Given the description of an element on the screen output the (x, y) to click on. 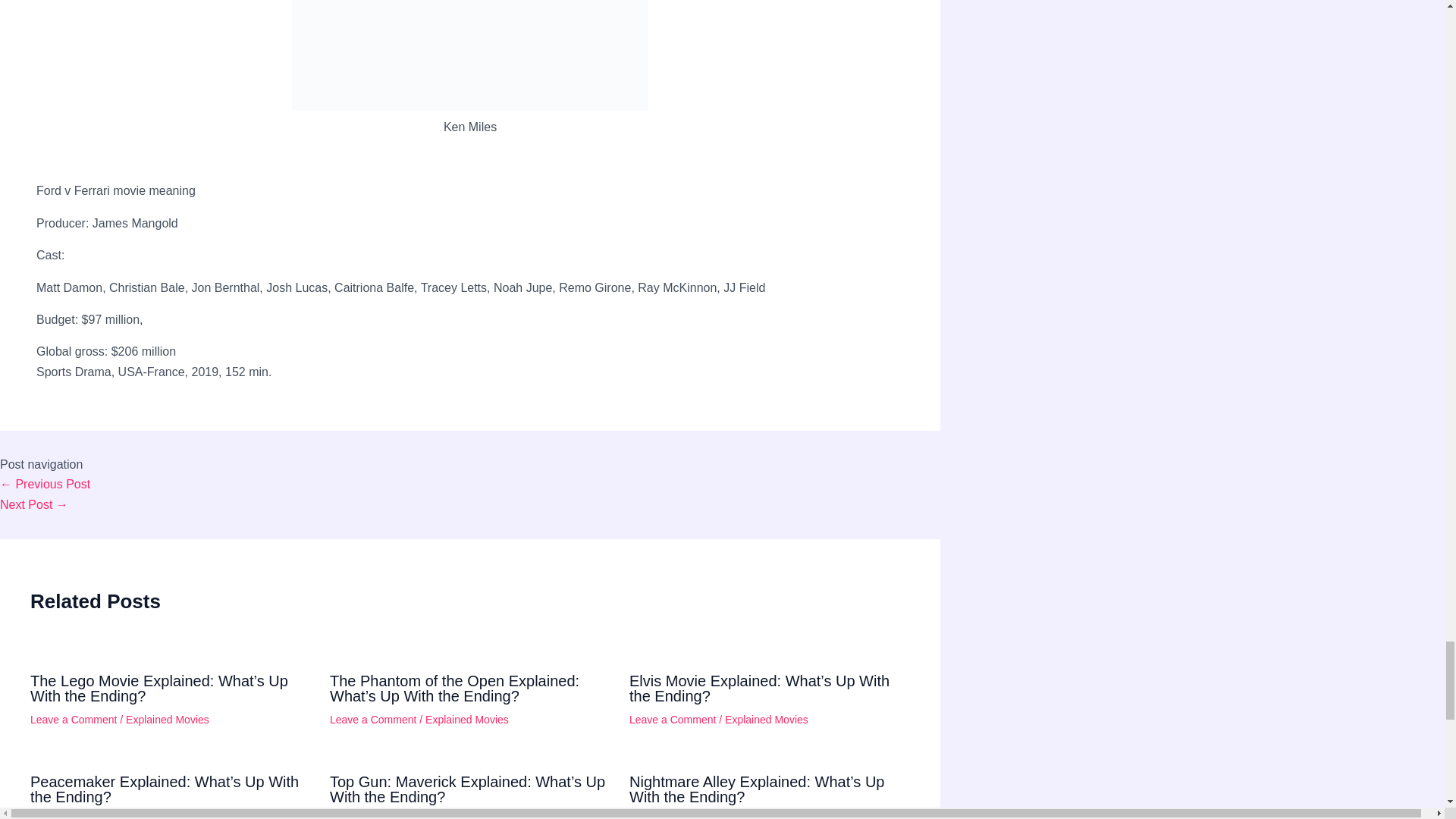
Leave a Comment (73, 719)
Explained Movies (466, 719)
Leave a Comment (373, 816)
Leave a Comment (672, 816)
Explained Movies (466, 816)
Explained Movies (766, 719)
Leave a Comment (373, 719)
Happy Death Day Explained: What's Up With the Ending? (45, 483)
Leave a Comment (672, 719)
Explained Movies (766, 816)
Explained Movies (167, 816)
Leave a Comment (73, 816)
Marriage Story Explained: What's Up With the Ending? (34, 504)
Explained Movies (167, 719)
